Given the description of an element on the screen output the (x, y) to click on. 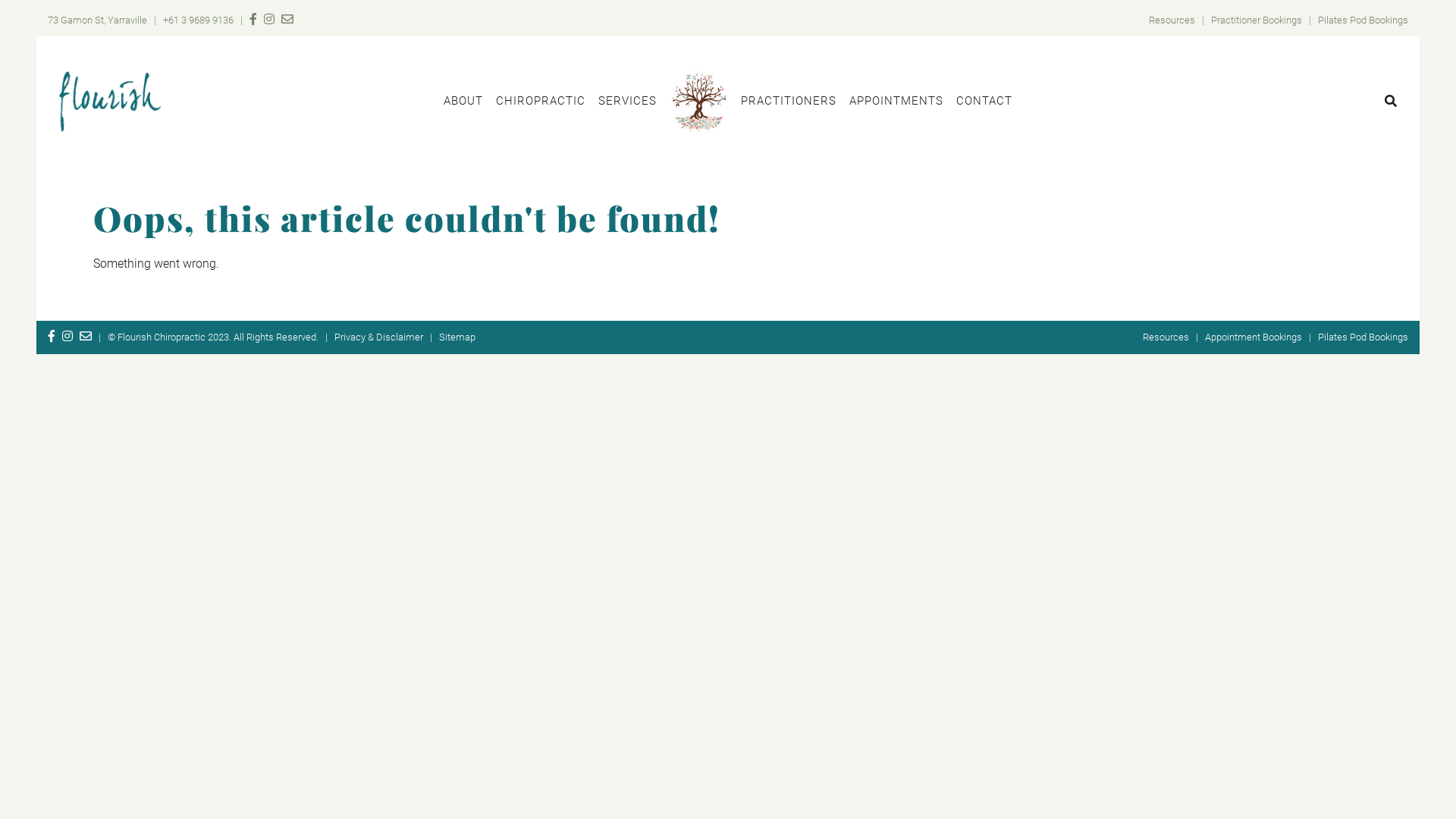
Appointment Bookings Element type: text (1253, 336)
APPOINTMENTS Element type: text (896, 100)
+61 3 9689 9136 Element type: text (198, 19)
Practitioner Bookings Element type: text (1256, 19)
73 Gamon St, Yarraville Element type: text (97, 19)
SERVICES Element type: text (627, 100)
Privacy & Disclaimer Element type: text (378, 336)
Pilates Pod Bookings Element type: text (1362, 19)
Resources Element type: text (1171, 19)
PRACTITIONERS Element type: text (788, 100)
ABOUT Element type: text (463, 100)
Pilates Pod Bookings Element type: text (1362, 336)
Sitemap Element type: text (457, 336)
CHIROPRACTIC Element type: text (540, 100)
Resources Element type: text (1165, 336)
CONTACT Element type: text (984, 100)
logo Element type: hover (110, 101)
   |    Element type: text (93, 336)
